Given the description of an element on the screen output the (x, y) to click on. 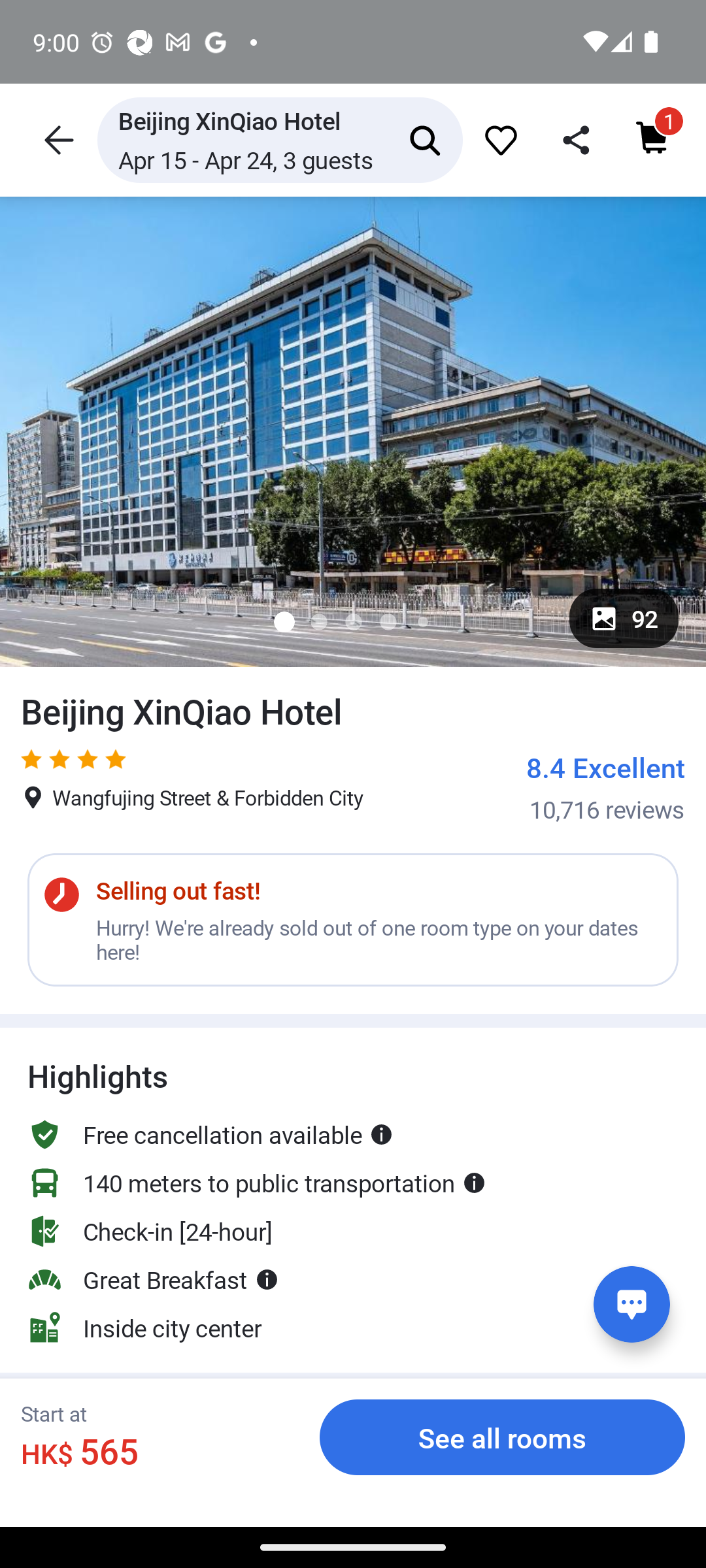
header icon (57, 139)
favorite_icon 51e95598 (498, 139)
share_header_icon (572, 139)
Cart icon cart_item_count 1 (650, 139)
Image with blurhash (353, 431)
92 (623, 618)
8.4 Excellent 10,716 reviews (604, 786)
140 meters to public transportation (256, 1182)
Great Breakfast (152, 1279)
See all rooms (501, 1436)
